Given the description of an element on the screen output the (x, y) to click on. 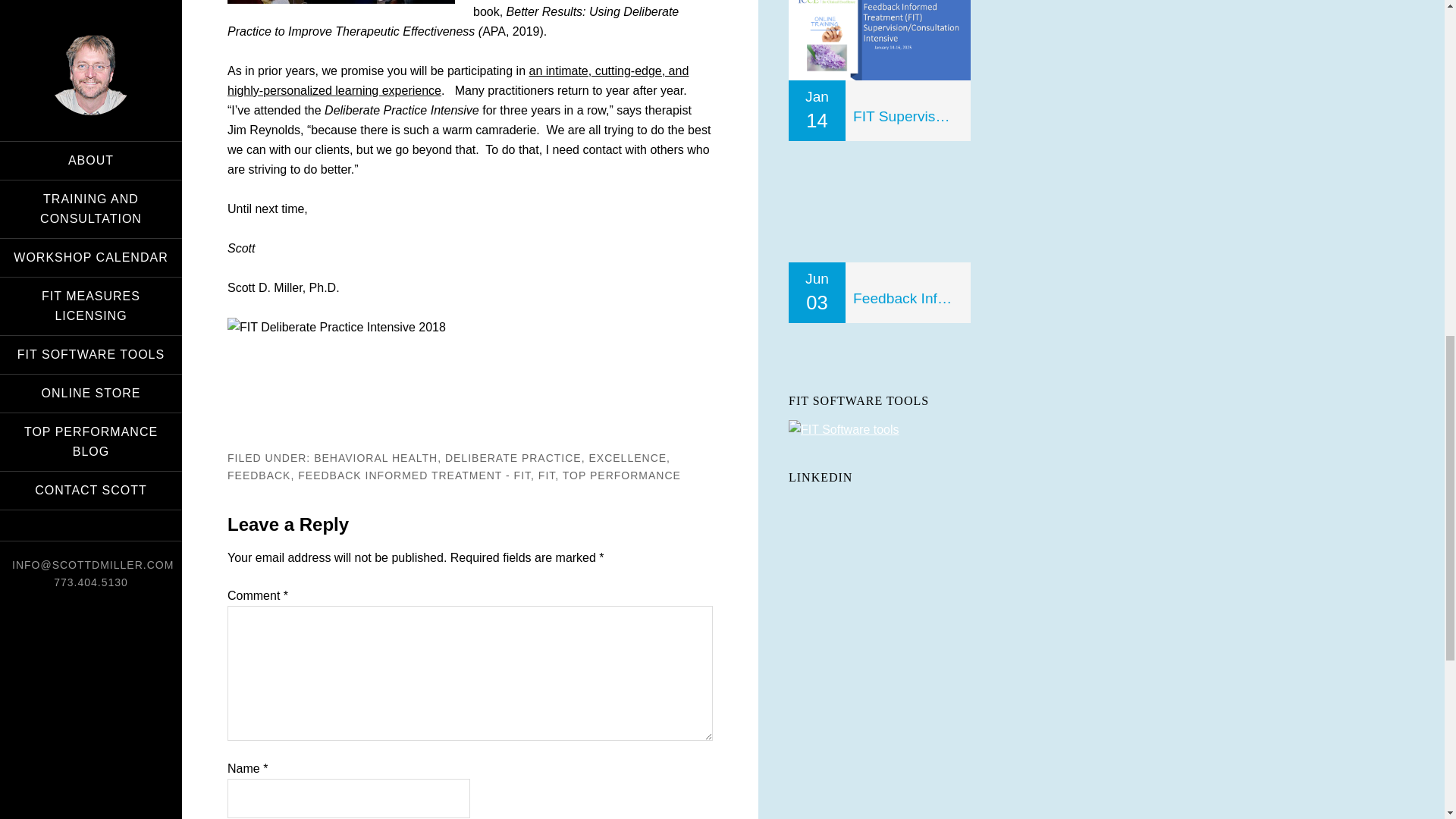
EXCELLENCE (627, 458)
FIT (546, 474)
FEEDBACK (258, 474)
FEEDBACK INFORMED TREATMENT - FIT (414, 474)
TOP PERFORMANCE (621, 474)
BEHAVIORAL HEALTH (376, 458)
DELIBERATE PRACTICE (512, 458)
